Given the description of an element on the screen output the (x, y) to click on. 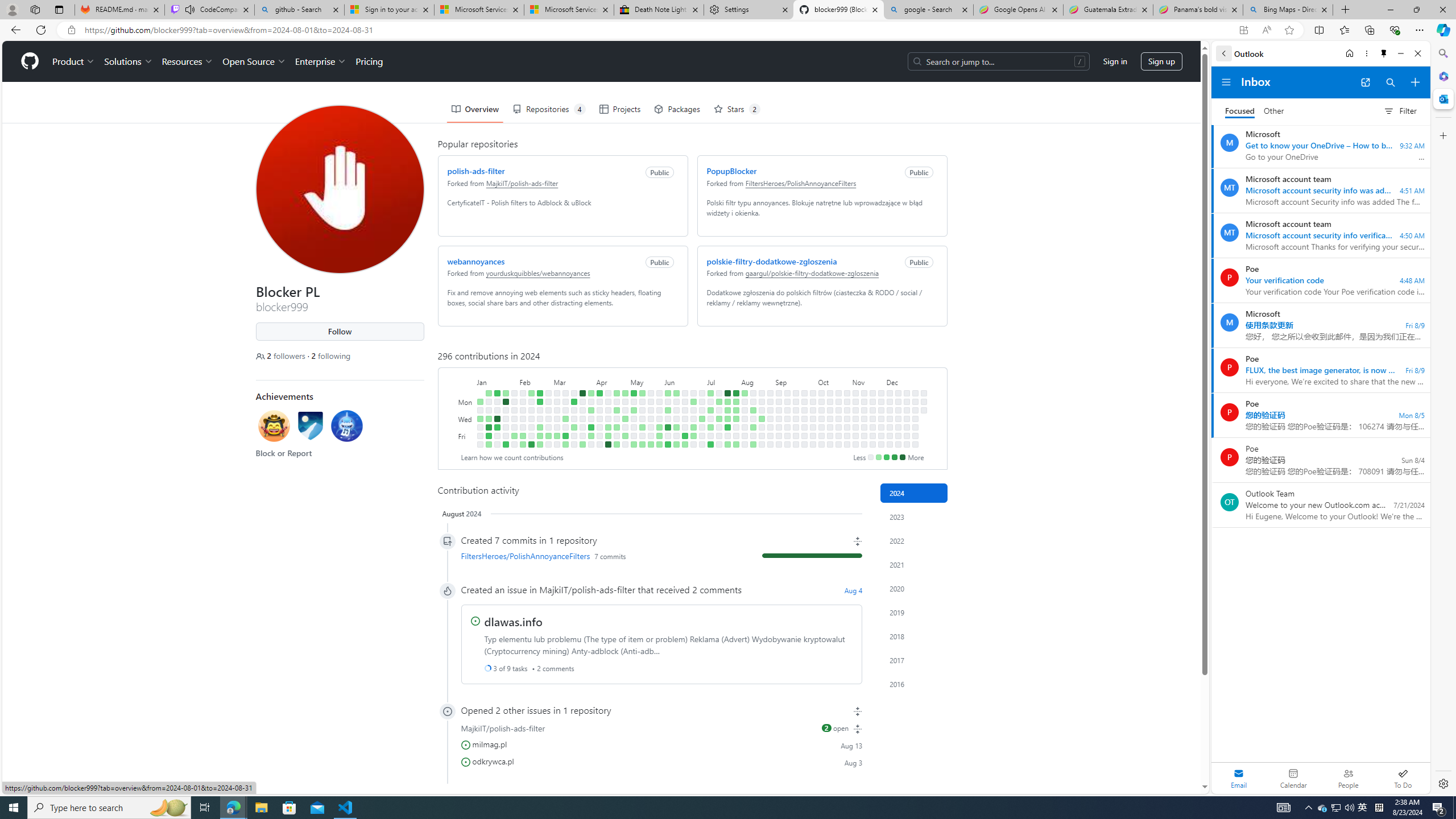
1 contribution on January 1st. (479, 401)
No contributions on August 27th. (770, 410)
No contributions on May 23rd. (650, 427)
No contributions on November 14th. (863, 427)
7 contributions on January 11th. (488, 427)
No contributions on September 24th. (804, 410)
No contributions on August 8th. (744, 427)
No contributions on April 11th. (598, 427)
No contributions on August 22nd. (761, 427)
No contributions on February 26th. (547, 401)
No contributions on September 4th. (777, 418)
No contributions on March 5th. (556, 410)
No contributions on April 15th. (607, 401)
No contributions on June 16th. (684, 392)
No contributions on February 8th. (522, 427)
